Given the description of an element on the screen output the (x, y) to click on. 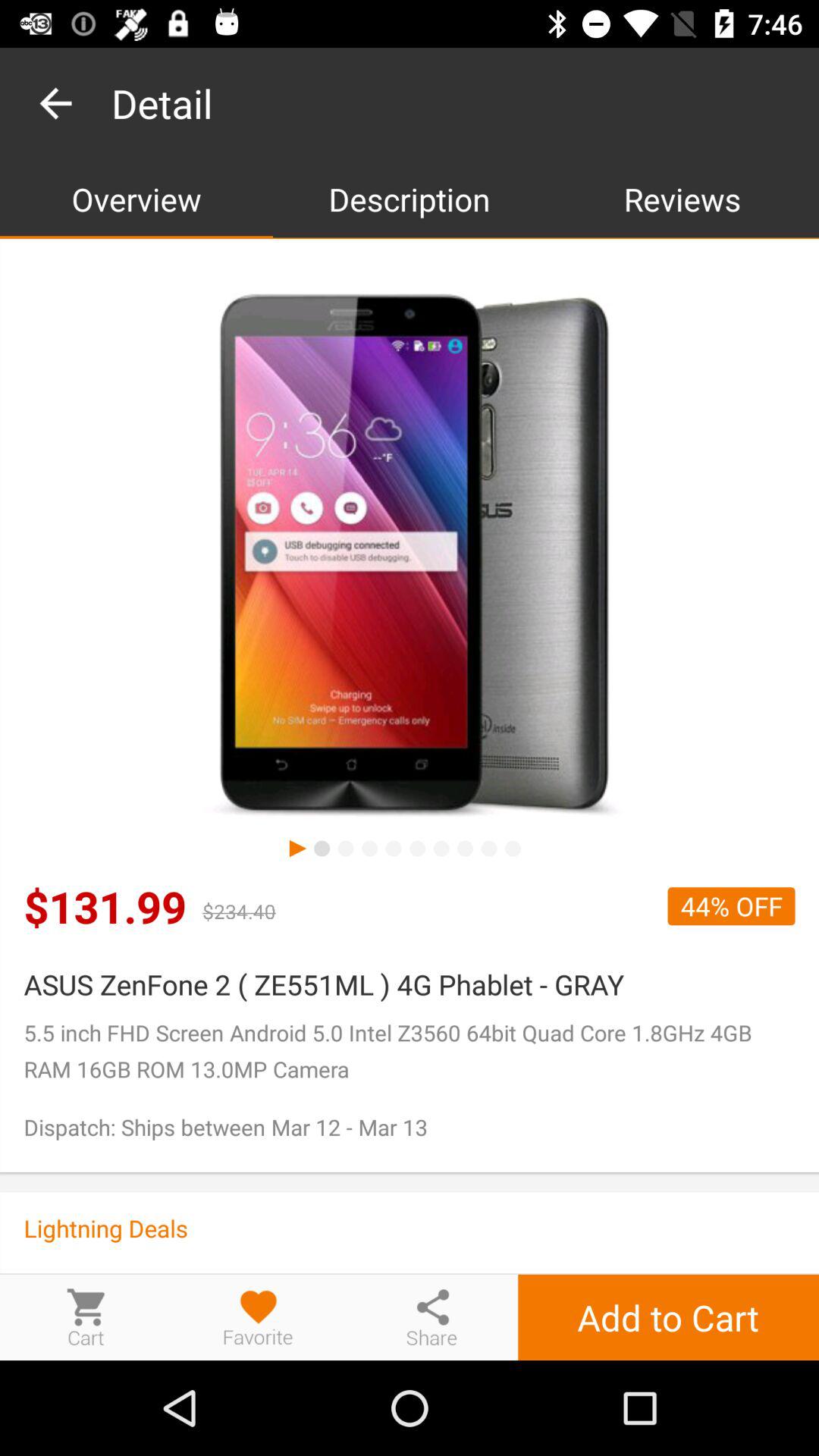
jump until overview (136, 198)
